Given the description of an element on the screen output the (x, y) to click on. 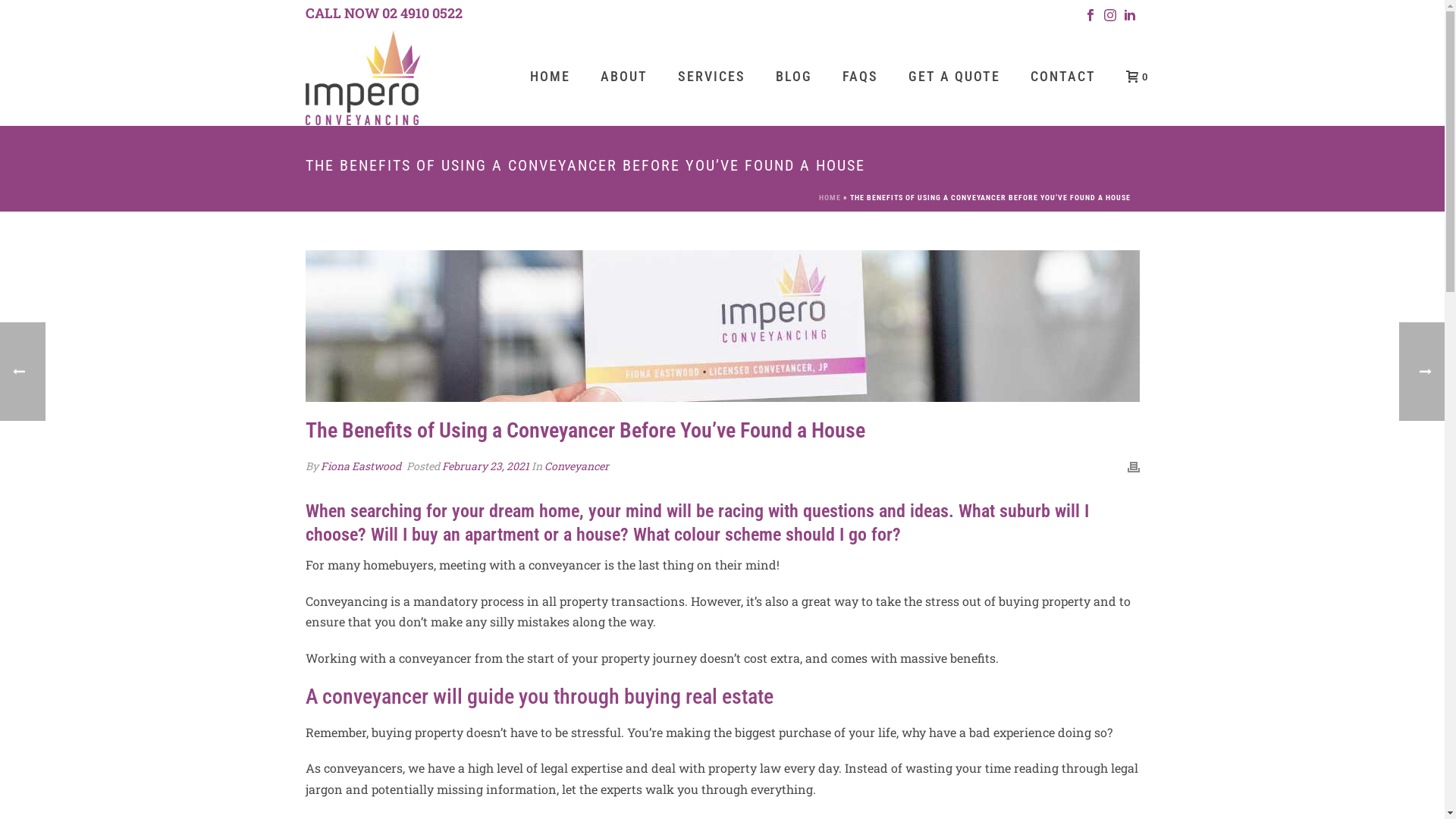
ABOUT Element type: text (623, 76)
HOME Element type: text (549, 76)
GET A QUOTE Element type: text (954, 76)
Print Element type: hover (1132, 465)
February 23, 2021 Element type: text (484, 465)
Fiona Eastwood Element type: text (360, 465)
CONTACT Element type: text (1062, 76)
FAQS Element type: text (859, 76)
CALL NOW 02 4910 0522 Element type: text (382, 14)
SERVICES Element type: text (711, 76)
0 Element type: text (1132, 75)
HOME Element type: text (829, 197)
BLOG Element type: text (792, 76)
  Element type: text (721, 325)
Newcastle Conveyancing Specialists Element type: hover (362, 75)
Conveyancer Element type: text (576, 465)
